Given the description of an element on the screen output the (x, y) to click on. 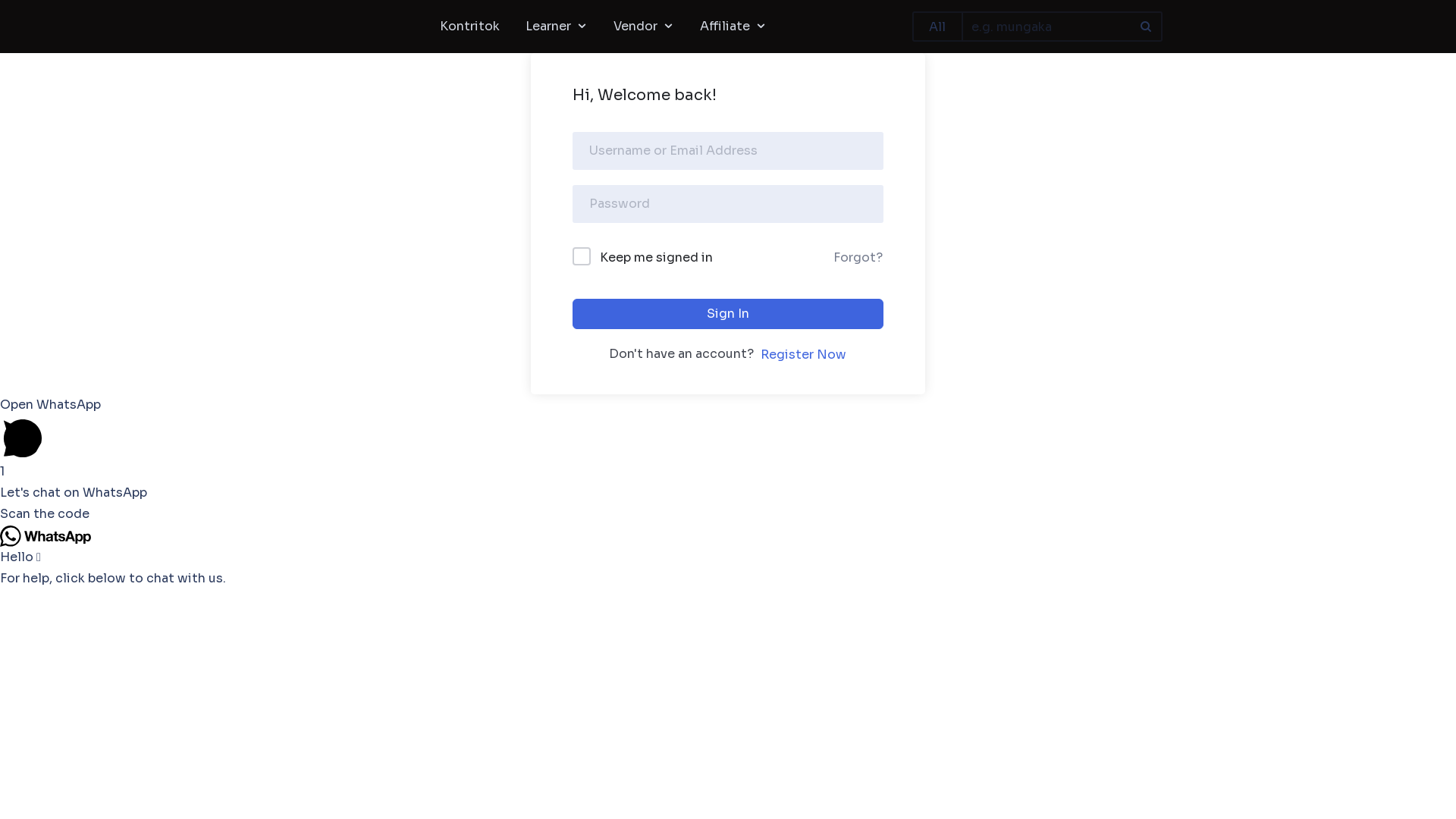
Language switcher : French Element type: hover (1417, 804)
Register Now Element type: text (803, 354)
Forgot? Element type: text (857, 257)
Sign In Element type: text (727, 313)
